Given the description of an element on the screen output the (x, y) to click on. 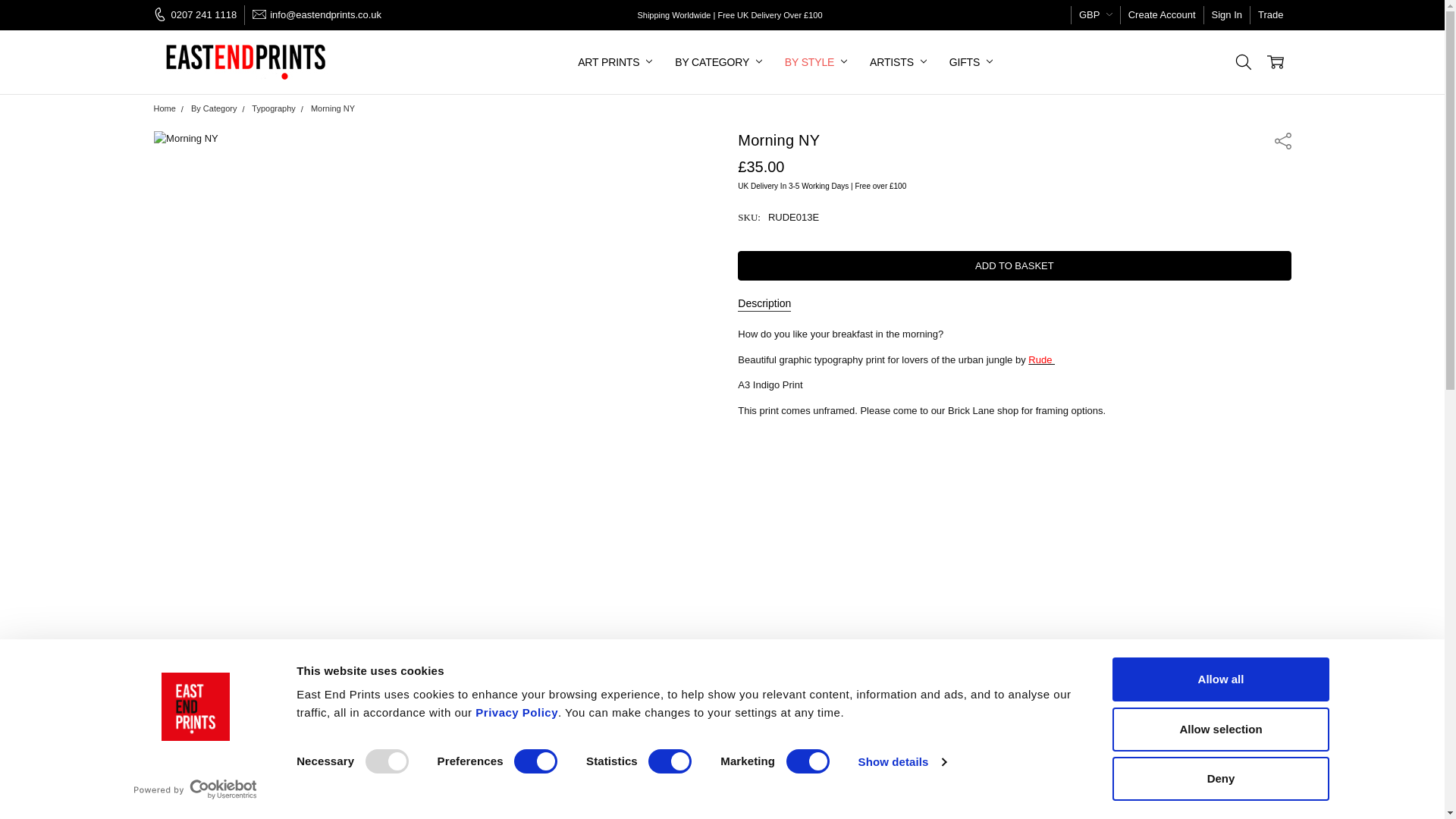
Privacy Policy (516, 712)
East End Prints Ltd (247, 62)
Privacy Policy (516, 712)
Show details (900, 762)
Add to Basket (1014, 265)
